Given the description of an element on the screen output the (x, y) to click on. 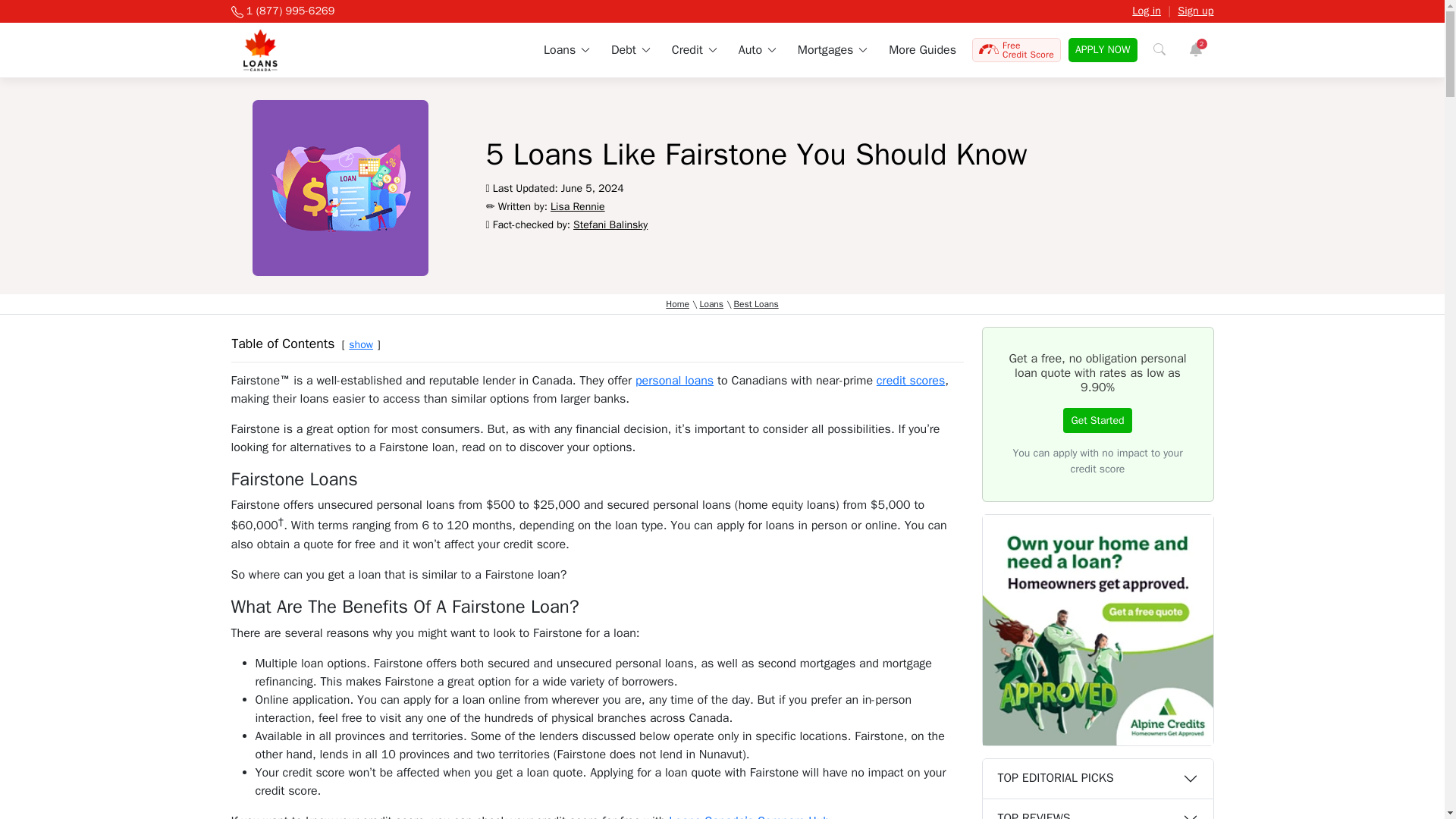
Loans in Canada (565, 49)
Sign up (1194, 10)
Debt (630, 49)
Loans (565, 49)
Log in (1146, 10)
